Given the description of an element on the screen output the (x, y) to click on. 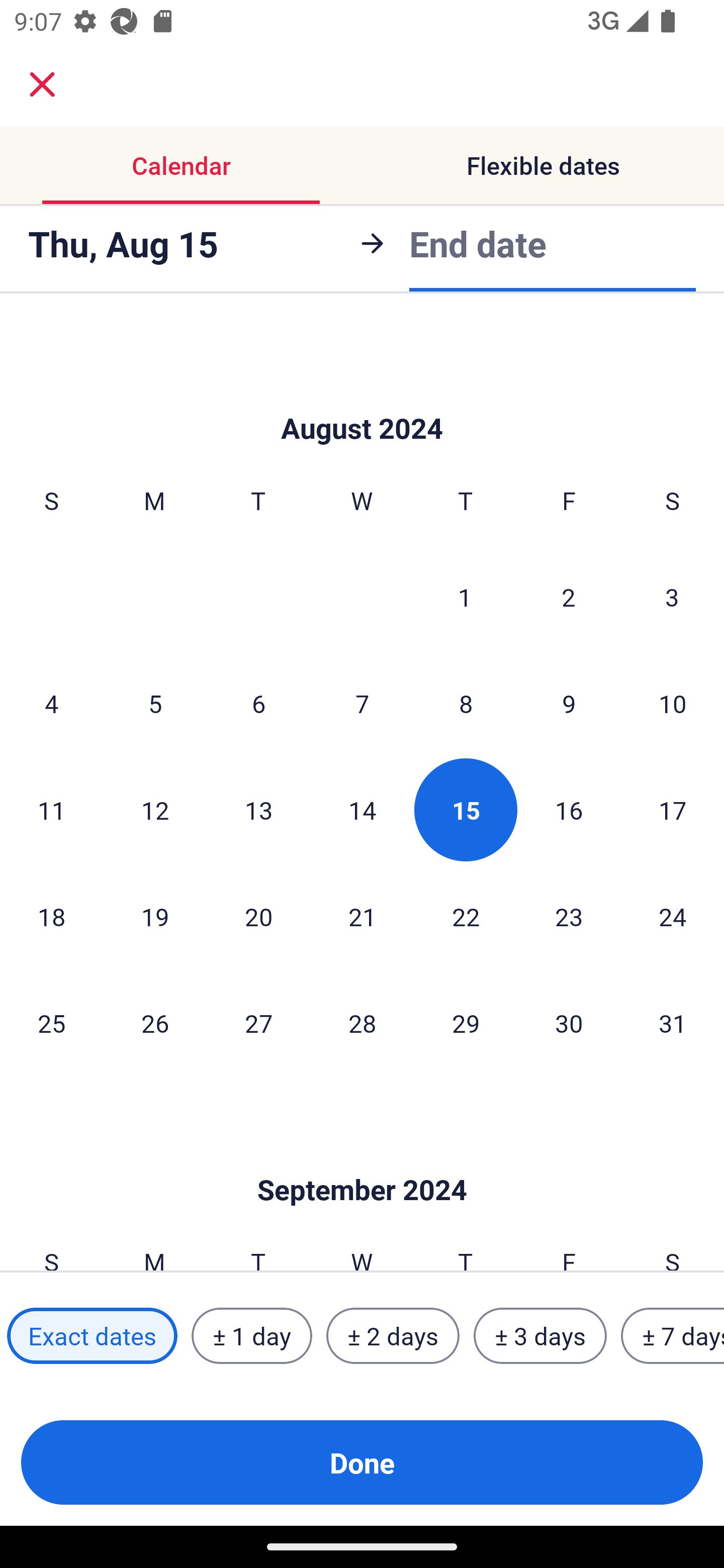
close. (42, 84)
Flexible dates (542, 164)
End date (477, 243)
Skip to Done (362, 397)
1 Thursday, August 1, 2024 (464, 596)
2 Friday, August 2, 2024 (568, 596)
3 Saturday, August 3, 2024 (672, 596)
4 Sunday, August 4, 2024 (51, 703)
5 Monday, August 5, 2024 (155, 703)
6 Tuesday, August 6, 2024 (258, 703)
7 Wednesday, August 7, 2024 (362, 703)
8 Thursday, August 8, 2024 (465, 703)
9 Friday, August 9, 2024 (569, 703)
10 Saturday, August 10, 2024 (672, 703)
11 Sunday, August 11, 2024 (51, 809)
12 Monday, August 12, 2024 (155, 809)
13 Tuesday, August 13, 2024 (258, 809)
14 Wednesday, August 14, 2024 (362, 809)
16 Friday, August 16, 2024 (569, 809)
17 Saturday, August 17, 2024 (672, 809)
18 Sunday, August 18, 2024 (51, 916)
19 Monday, August 19, 2024 (155, 916)
20 Tuesday, August 20, 2024 (258, 916)
21 Wednesday, August 21, 2024 (362, 916)
22 Thursday, August 22, 2024 (465, 916)
23 Friday, August 23, 2024 (569, 916)
24 Saturday, August 24, 2024 (672, 916)
25 Sunday, August 25, 2024 (51, 1023)
26 Monday, August 26, 2024 (155, 1023)
27 Tuesday, August 27, 2024 (258, 1023)
28 Wednesday, August 28, 2024 (362, 1023)
29 Thursday, August 29, 2024 (465, 1023)
30 Friday, August 30, 2024 (569, 1023)
31 Saturday, August 31, 2024 (672, 1023)
Skip to Done (362, 1159)
Exact dates (92, 1335)
± 1 day (251, 1335)
± 2 days (392, 1335)
± 3 days (539, 1335)
± 7 days (672, 1335)
Done (361, 1462)
